Given the description of an element on the screen output the (x, y) to click on. 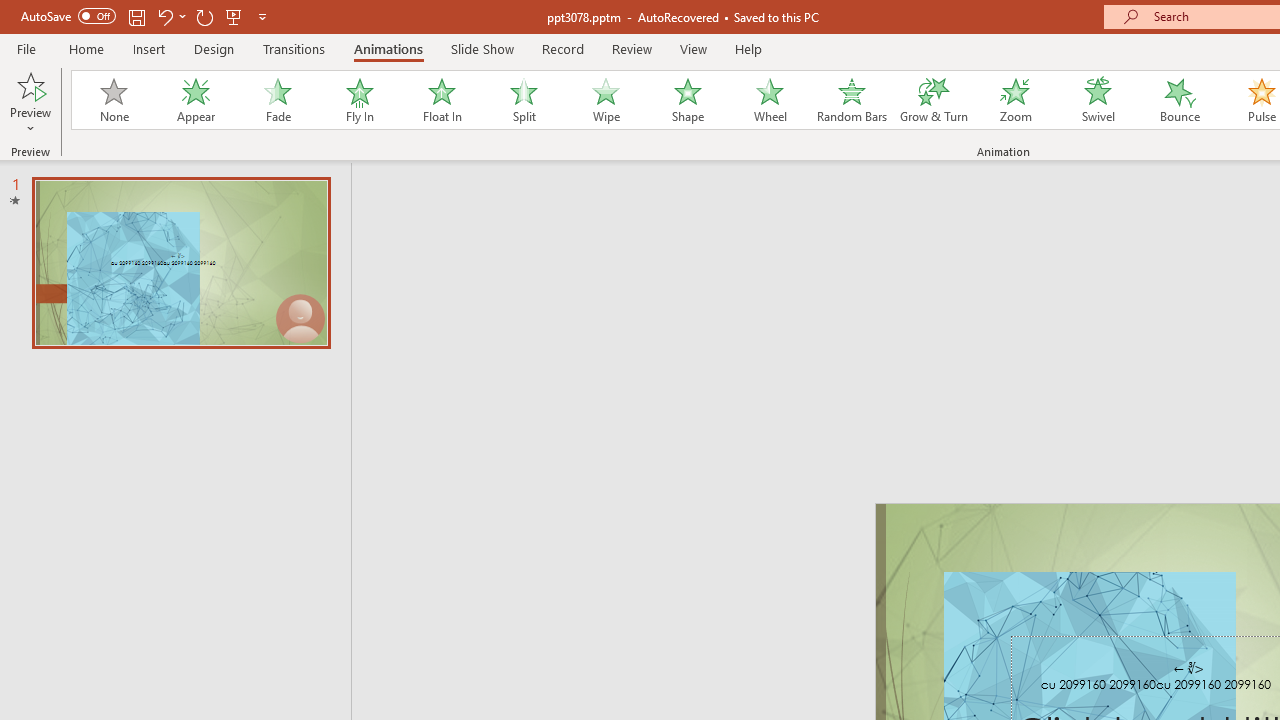
Random Bars (852, 100)
Appear (195, 100)
Bounce (1180, 100)
Grow & Turn (934, 100)
